Given the description of an element on the screen output the (x, y) to click on. 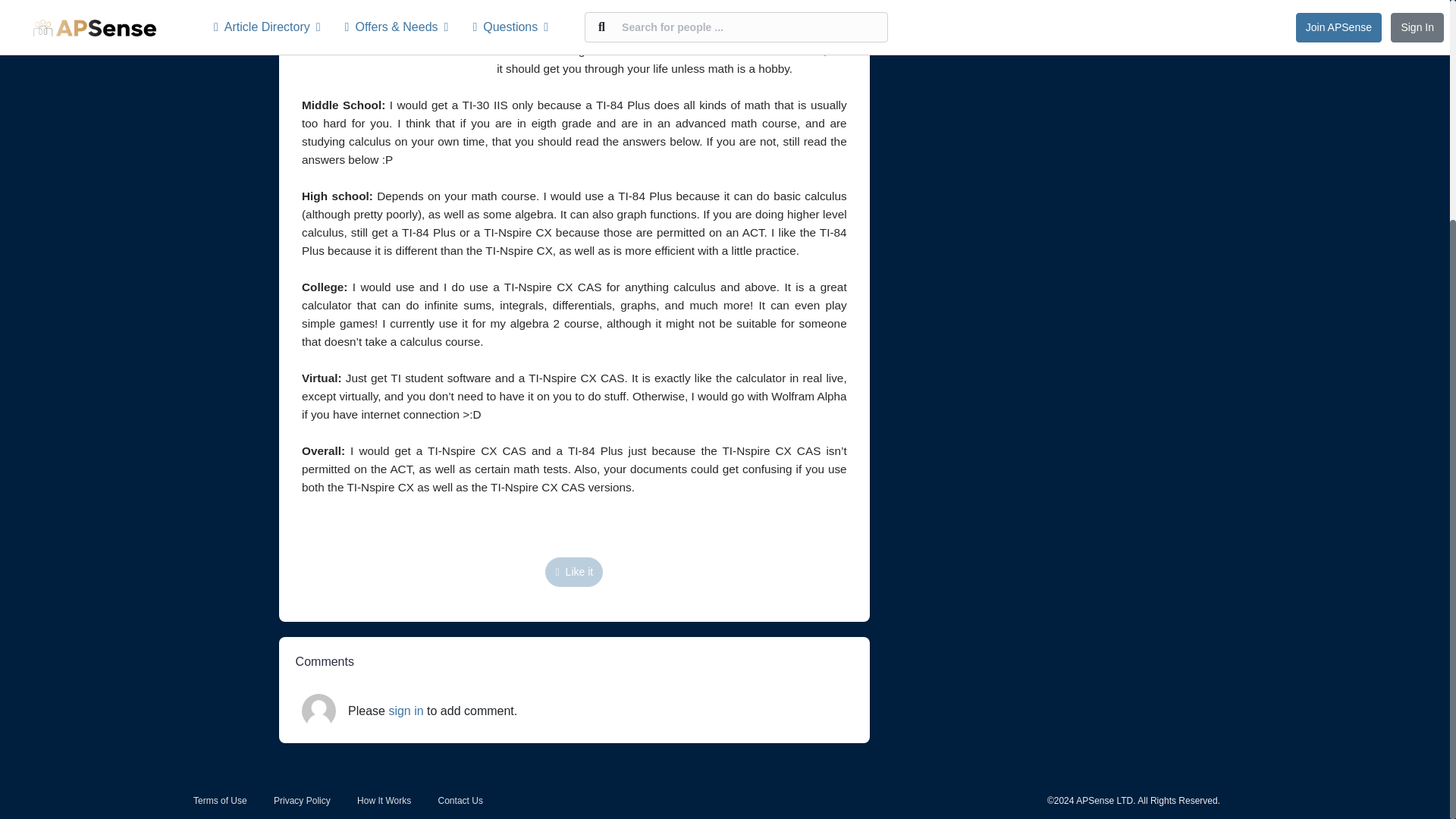
Like it (573, 572)
Contact Us (460, 800)
Terms of Use (220, 800)
How It Works (383, 800)
sign in (405, 710)
Privacy Policy (301, 800)
